Given the description of an element on the screen output the (x, y) to click on. 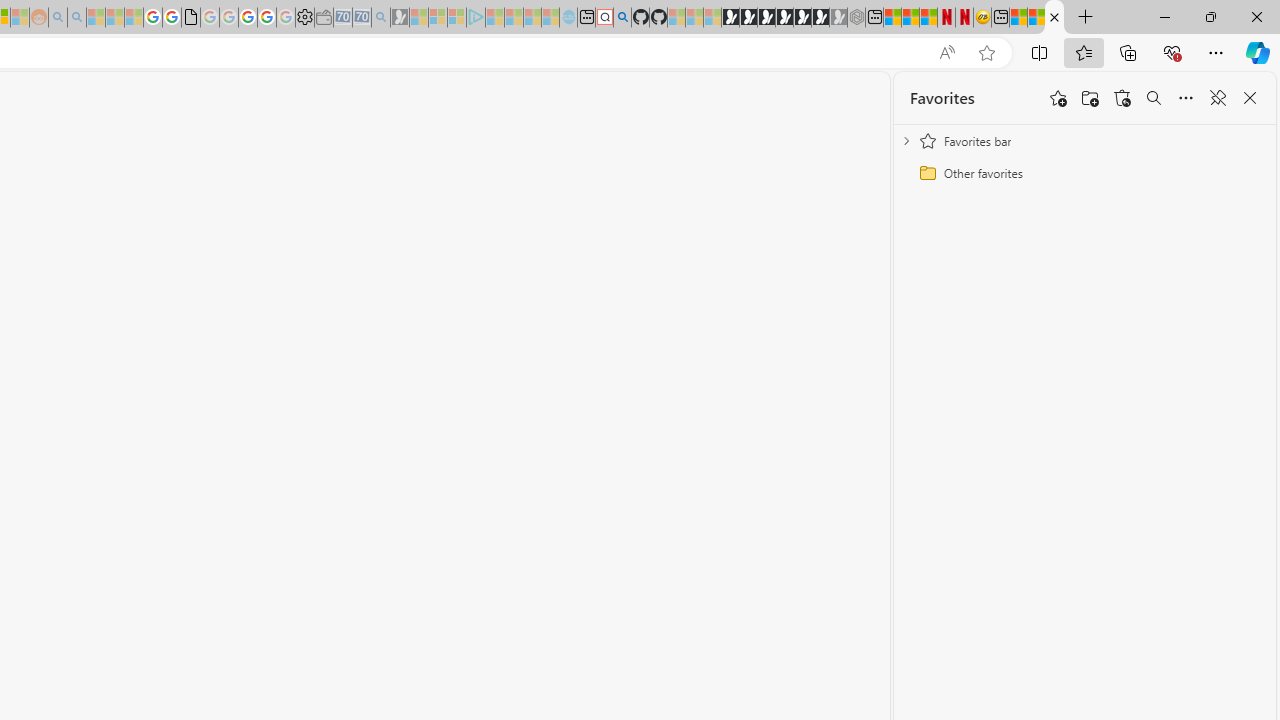
Restore deleted favorites (1122, 98)
Copilot (Ctrl+Shift+.) (1258, 52)
Favorites (942, 98)
google_privacy_policy_zh-CN.pdf (190, 17)
Close tab (1053, 16)
Unpin favorites (1217, 98)
Microsoft account | Privacy - Sleeping (456, 17)
Read aloud this page (Ctrl+Shift+U) (946, 53)
Settings (304, 17)
Add this page to favorites (Ctrl+D) (986, 53)
